Given the description of an element on the screen output the (x, y) to click on. 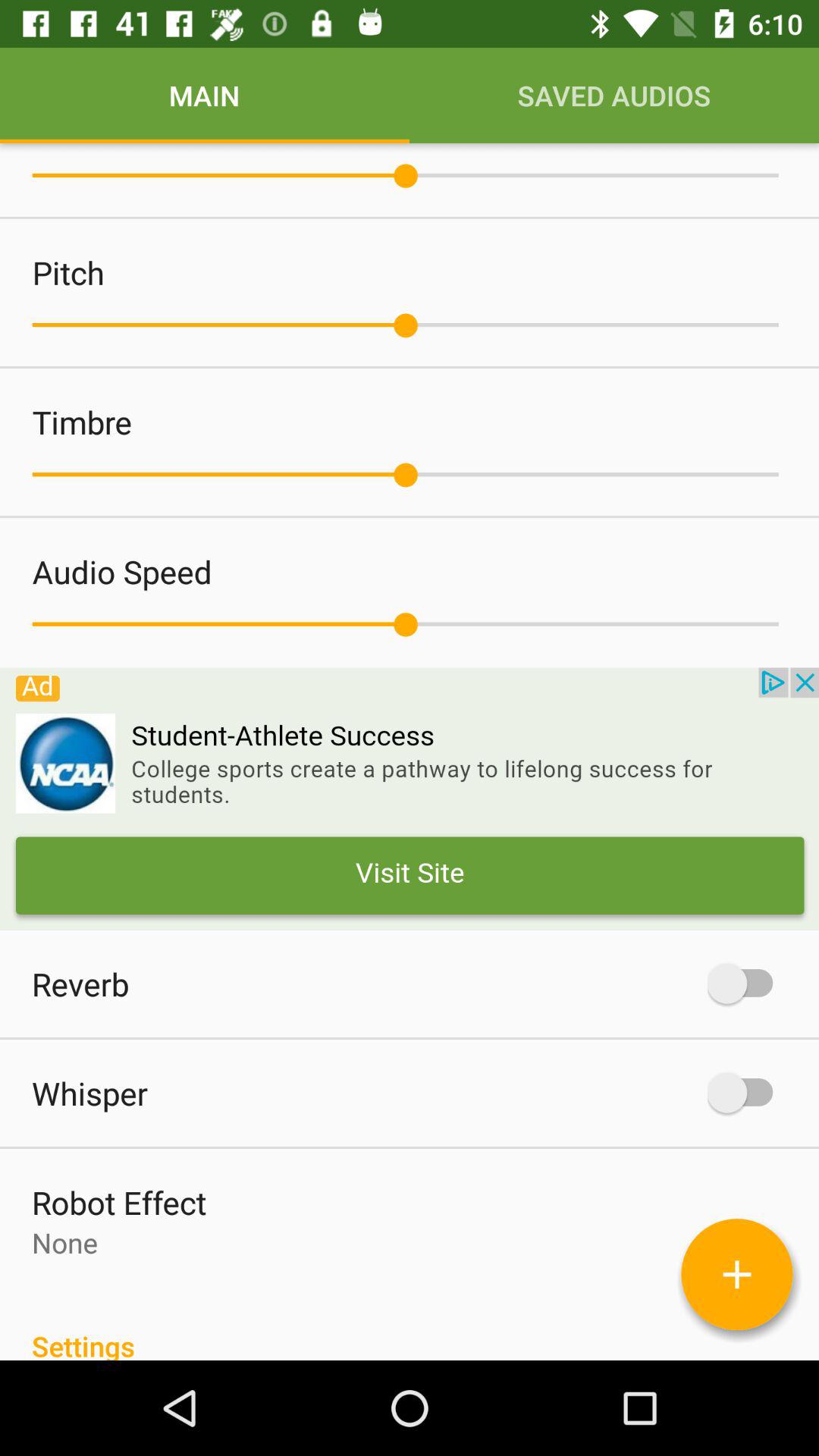
advertisement (409, 798)
